Given the description of an element on the screen output the (x, y) to click on. 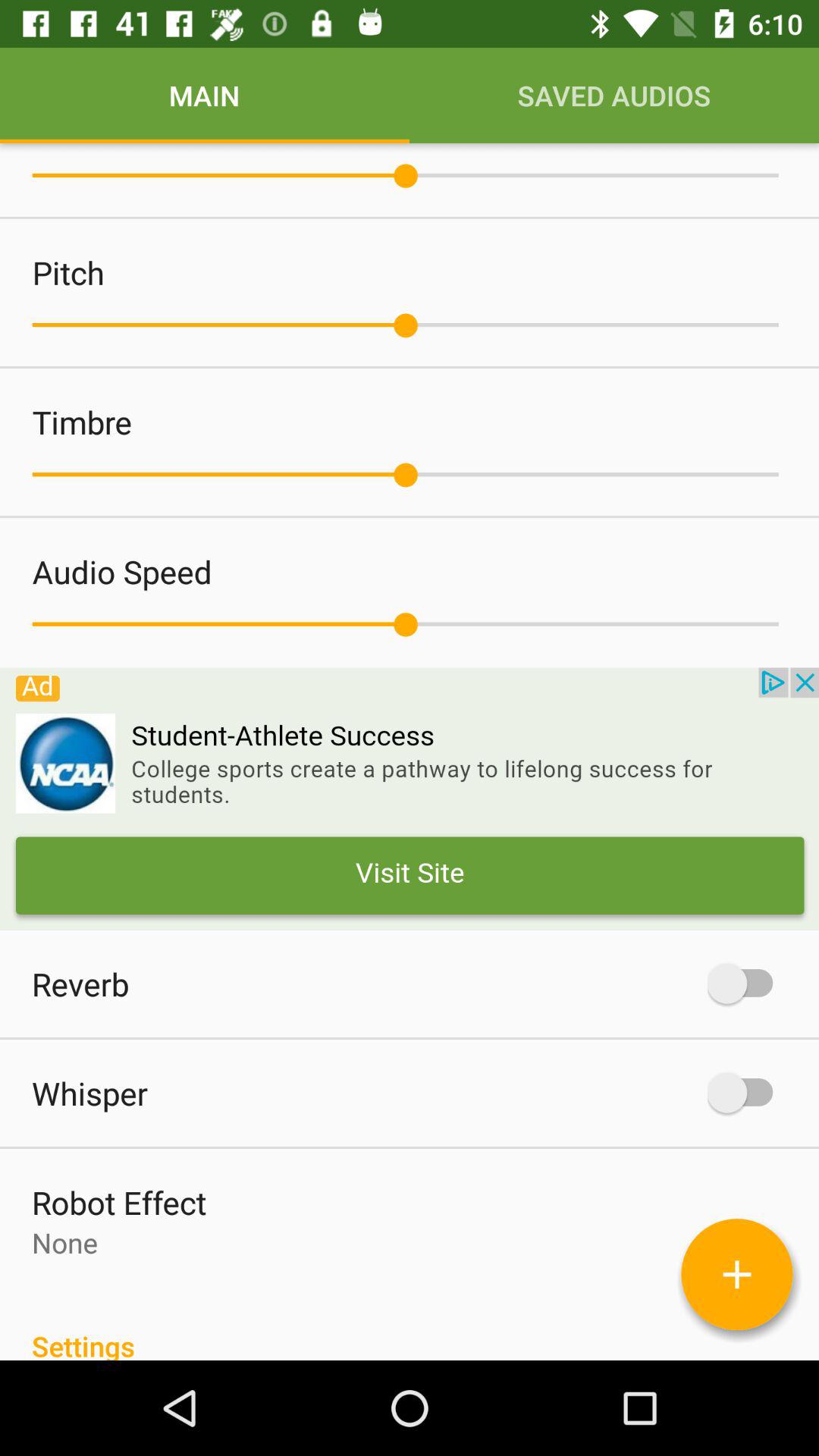
advertisement (409, 798)
